Given the description of an element on the screen output the (x, y) to click on. 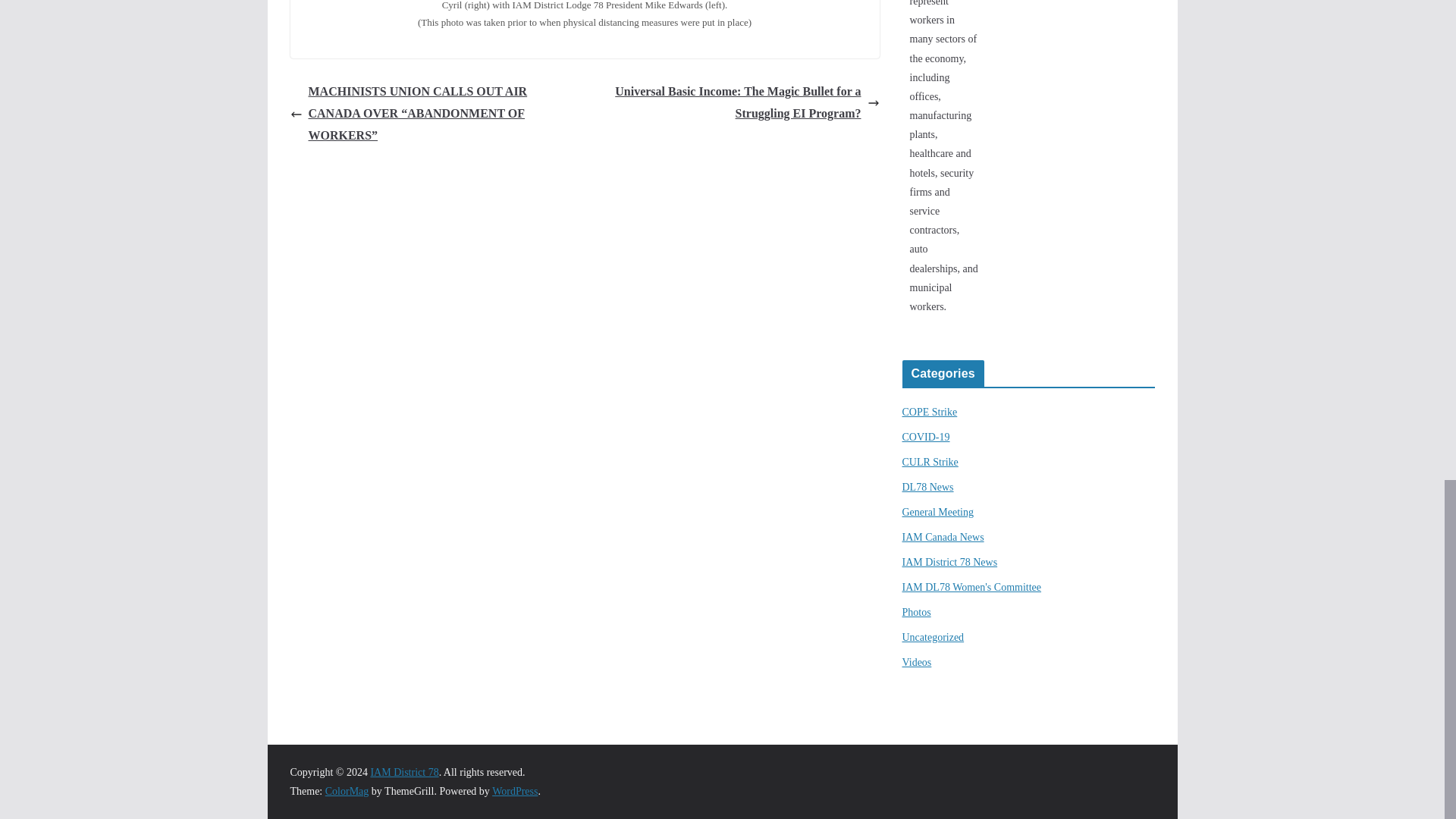
CULR Strike (930, 461)
IAM District 78 (403, 772)
COPE Strike (930, 411)
IAM DL78 Women's Committee (972, 586)
WordPress (514, 790)
DL78 News (927, 487)
IAM District 78 News (949, 562)
ColorMag (346, 790)
IAM Canada News (943, 536)
